Given the description of an element on the screen output the (x, y) to click on. 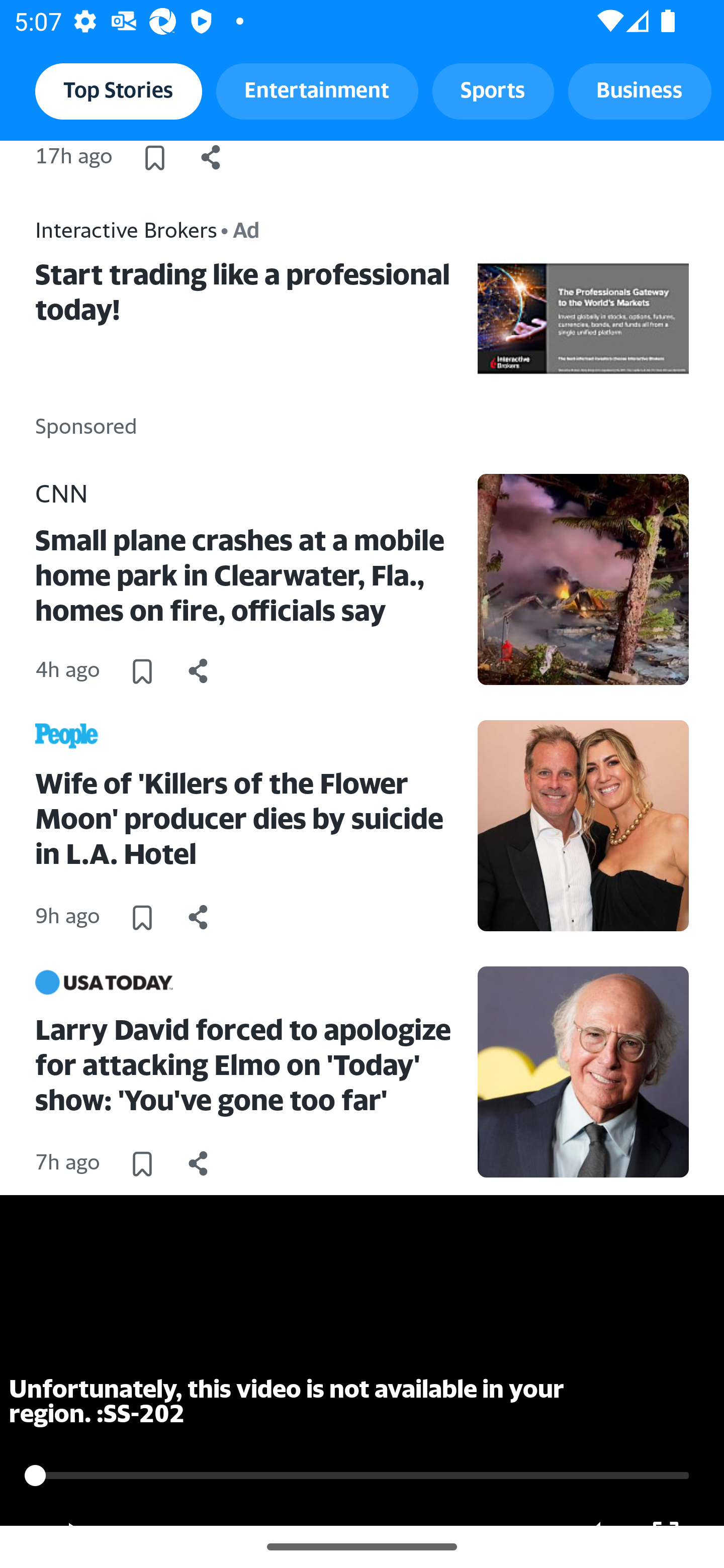
Entertainment (317, 90)
Sports (492, 90)
Business (639, 90)
17h ago Save this article Share this news article (362, 160)
Save this article (154, 156)
Share this news article (210, 156)
• Ad (240, 228)
Save this article (142, 670)
Share this news article (198, 670)
Save this article (142, 917)
Share this news article (198, 917)
Save this article (142, 1163)
Share this news article (198, 1163)
0.0 Zero hours Zero minutes 0 seconds remaining (361, 1475)
